Given the description of an element on the screen output the (x, y) to click on. 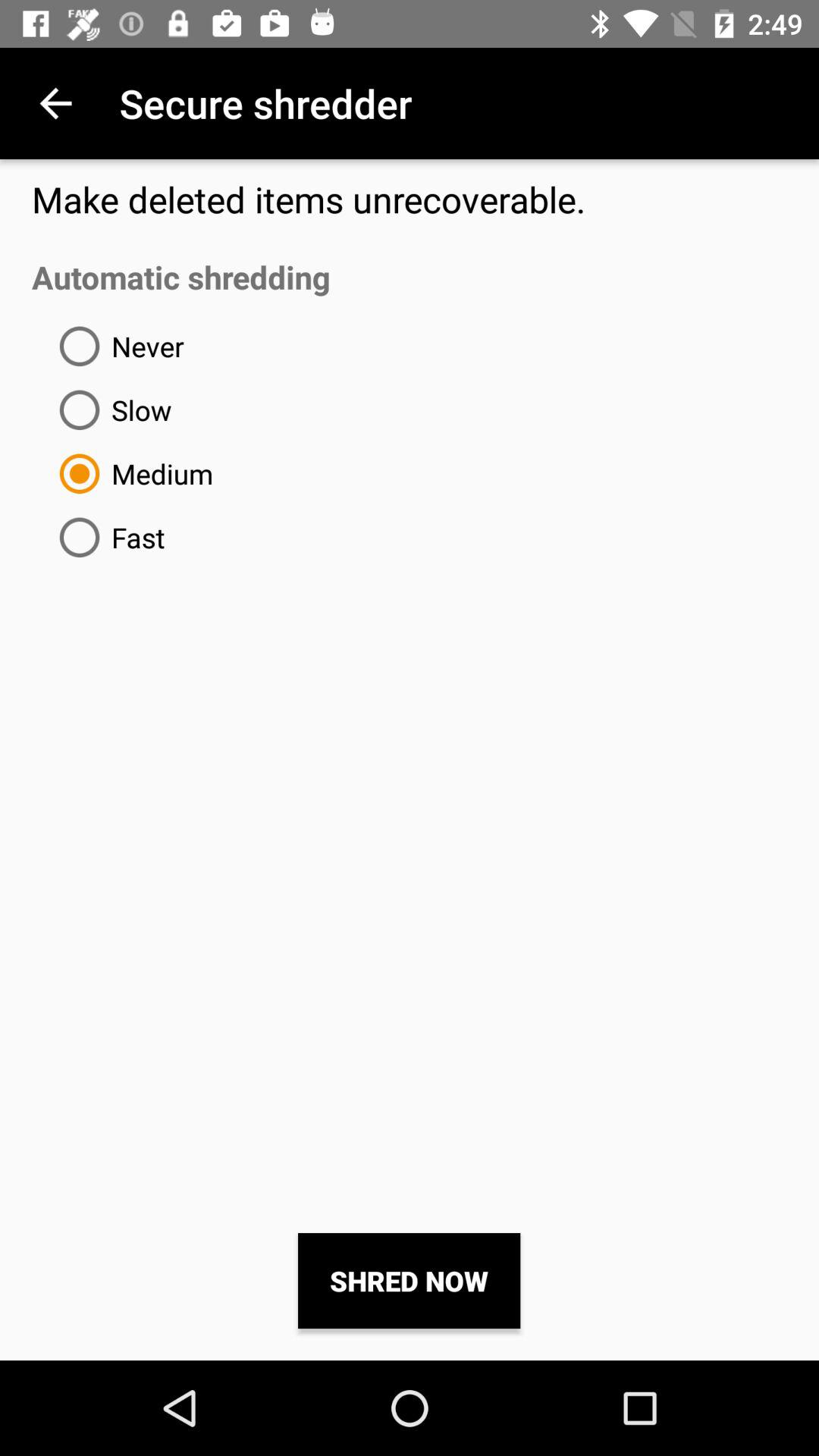
scroll until the never item (115, 346)
